Given the description of an element on the screen output the (x, y) to click on. 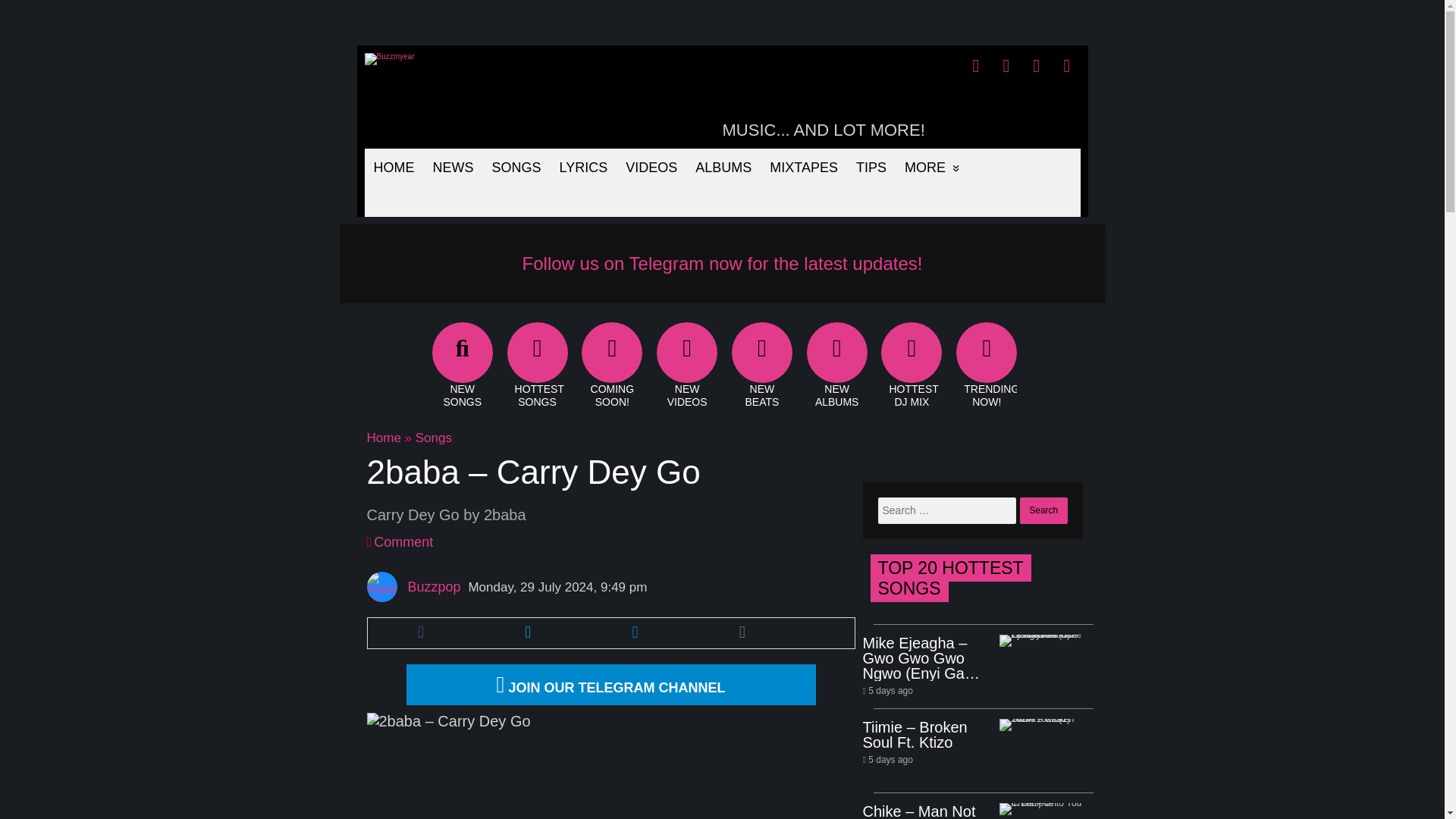
Comment (403, 541)
NEWS (452, 167)
Follow buzzmyear.com on Pinterest (1036, 66)
LYRICS (583, 167)
ALBUMS (722, 167)
Search (1043, 510)
HOME (393, 167)
Follow buzzmyear.com on Facebook (976, 66)
Home (383, 437)
MORE (932, 167)
Follow us on Telegram now for the latest updates! (722, 263)
Search (1043, 510)
SONGS (515, 167)
Posts by Buzzpop (433, 586)
VIDEOS (650, 167)
